Given the description of an element on the screen output the (x, y) to click on. 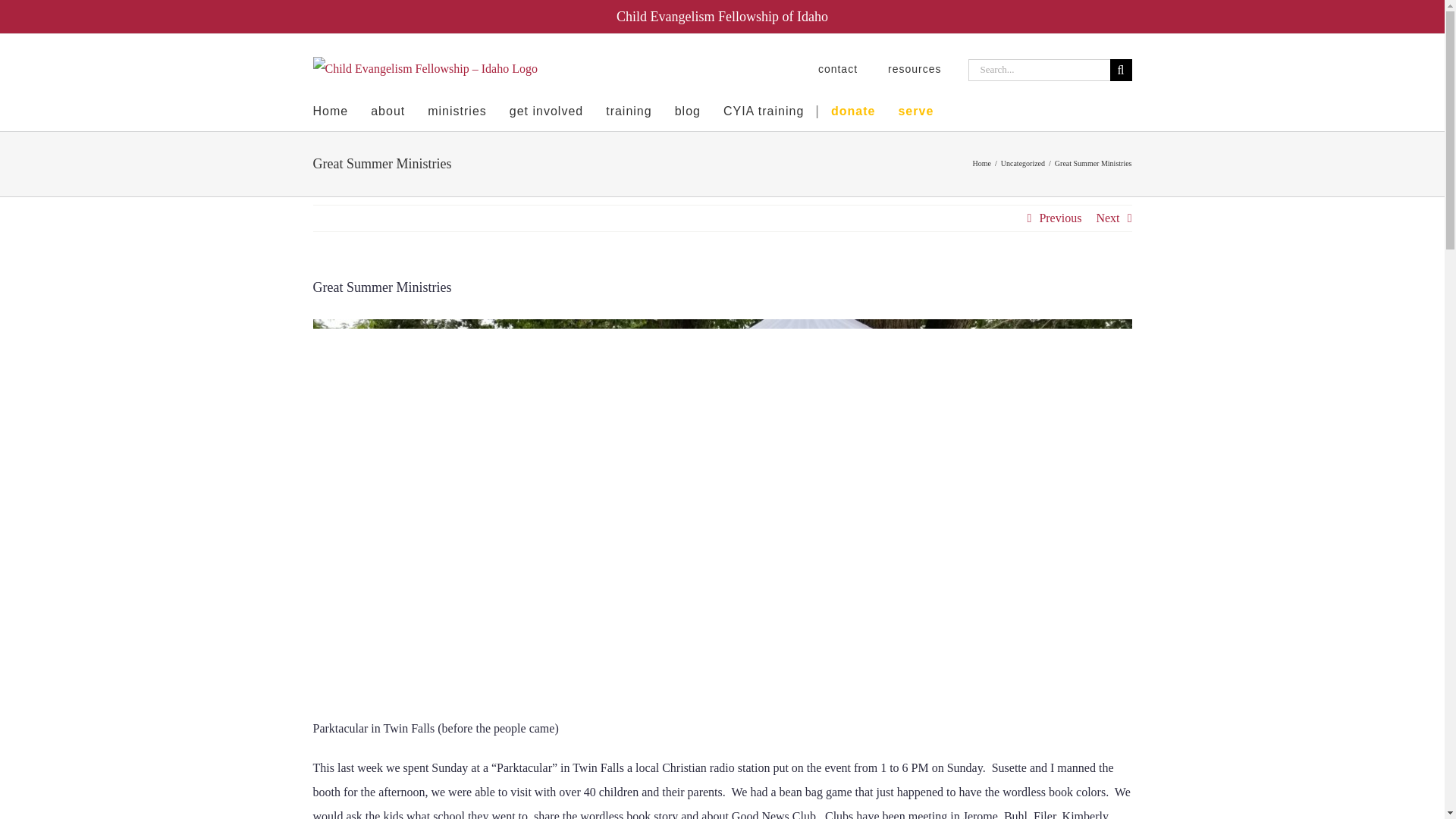
about (387, 111)
serve (915, 111)
Home (981, 162)
ministries (456, 111)
resources (914, 68)
Next (1107, 217)
training (628, 111)
Home (330, 111)
blog (687, 111)
Previous (1060, 217)
